Given the description of an element on the screen output the (x, y) to click on. 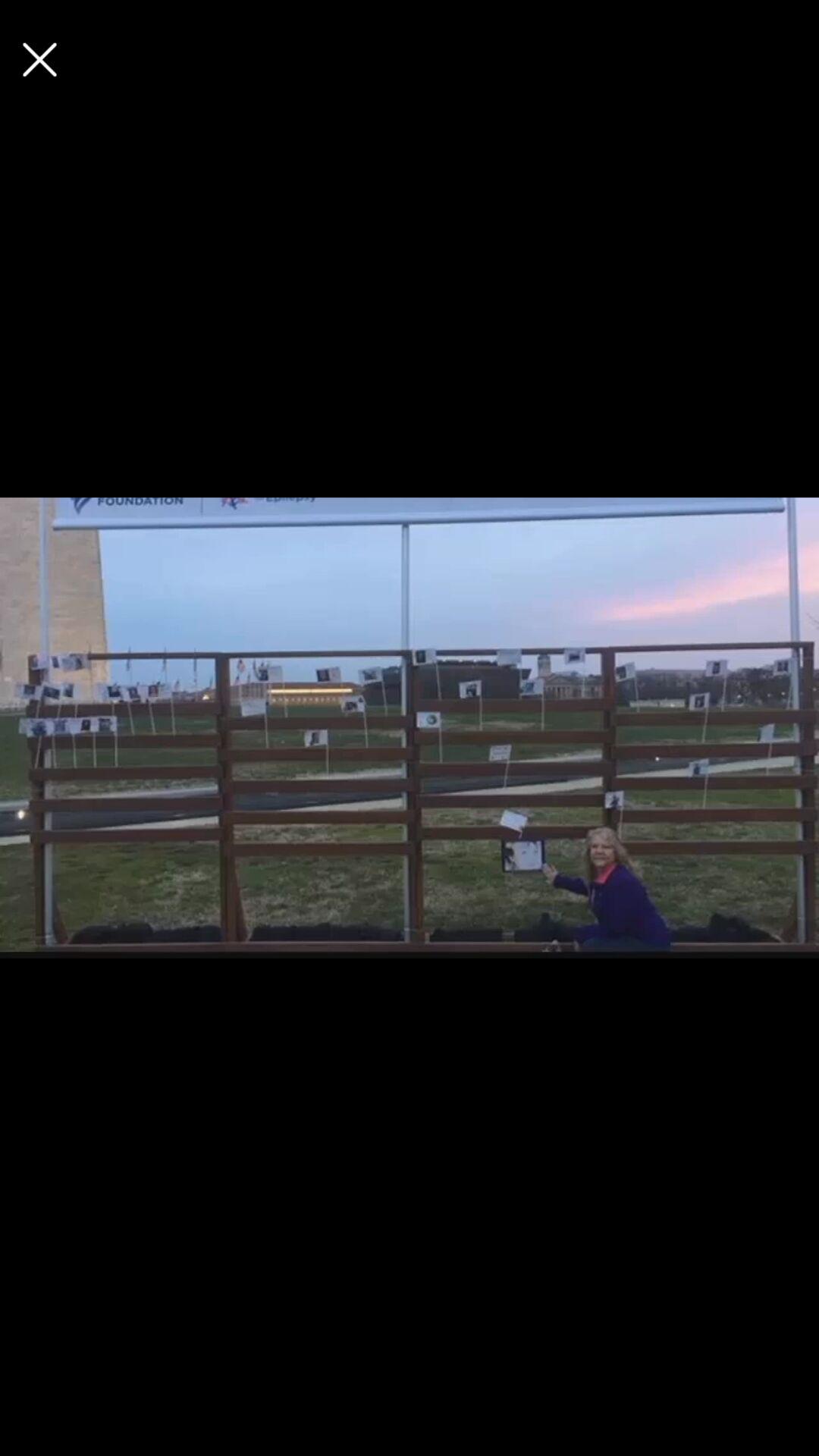
close (39, 59)
